Given the description of an element on the screen output the (x, y) to click on. 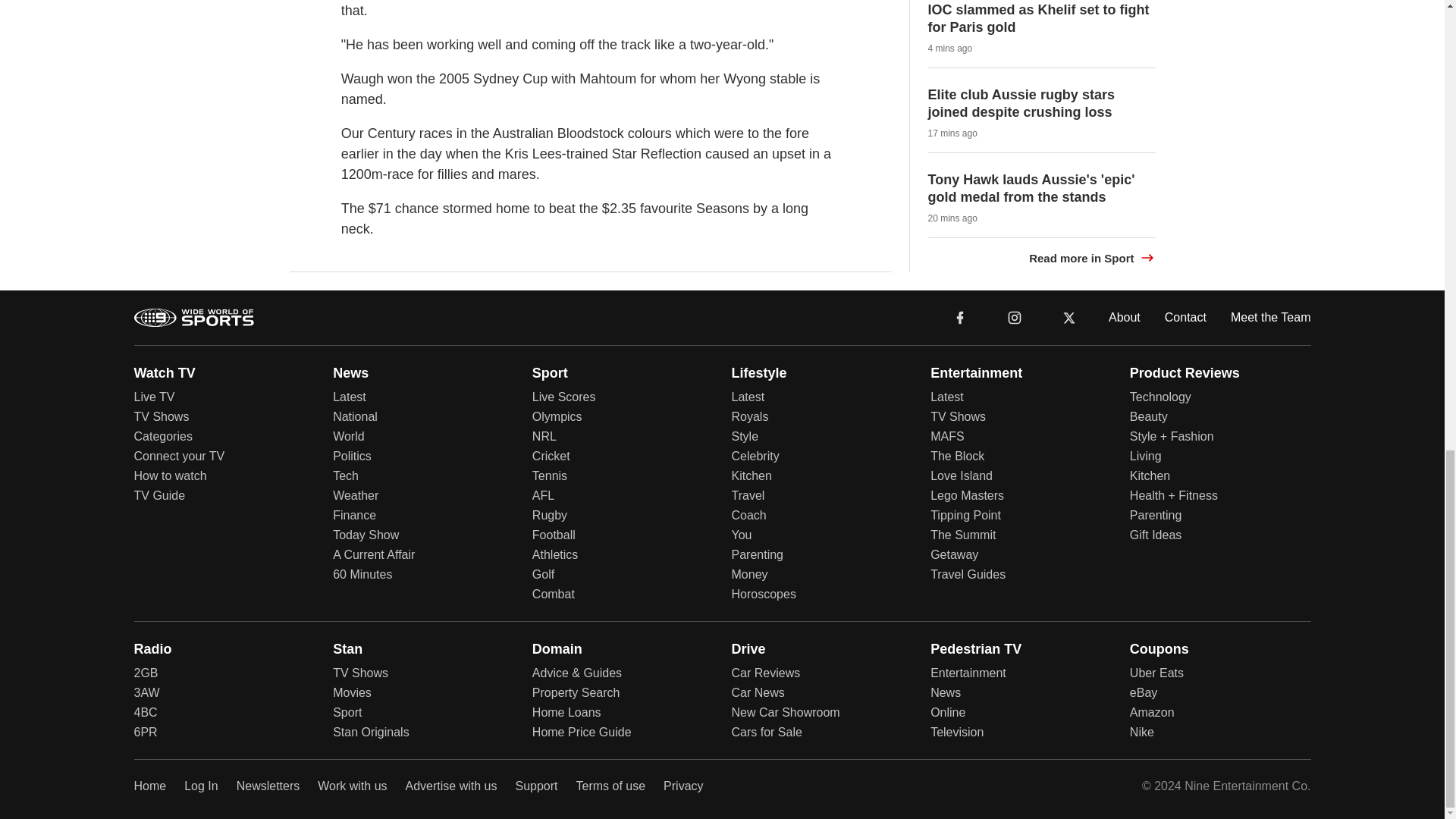
facebook (960, 317)
About (1124, 316)
Live TV (153, 396)
facebook (959, 316)
instagram (1014, 317)
x (1069, 317)
Categories (162, 436)
x (1069, 316)
instagram (1013, 316)
facebook (959, 316)
